Given the description of an element on the screen output the (x, y) to click on. 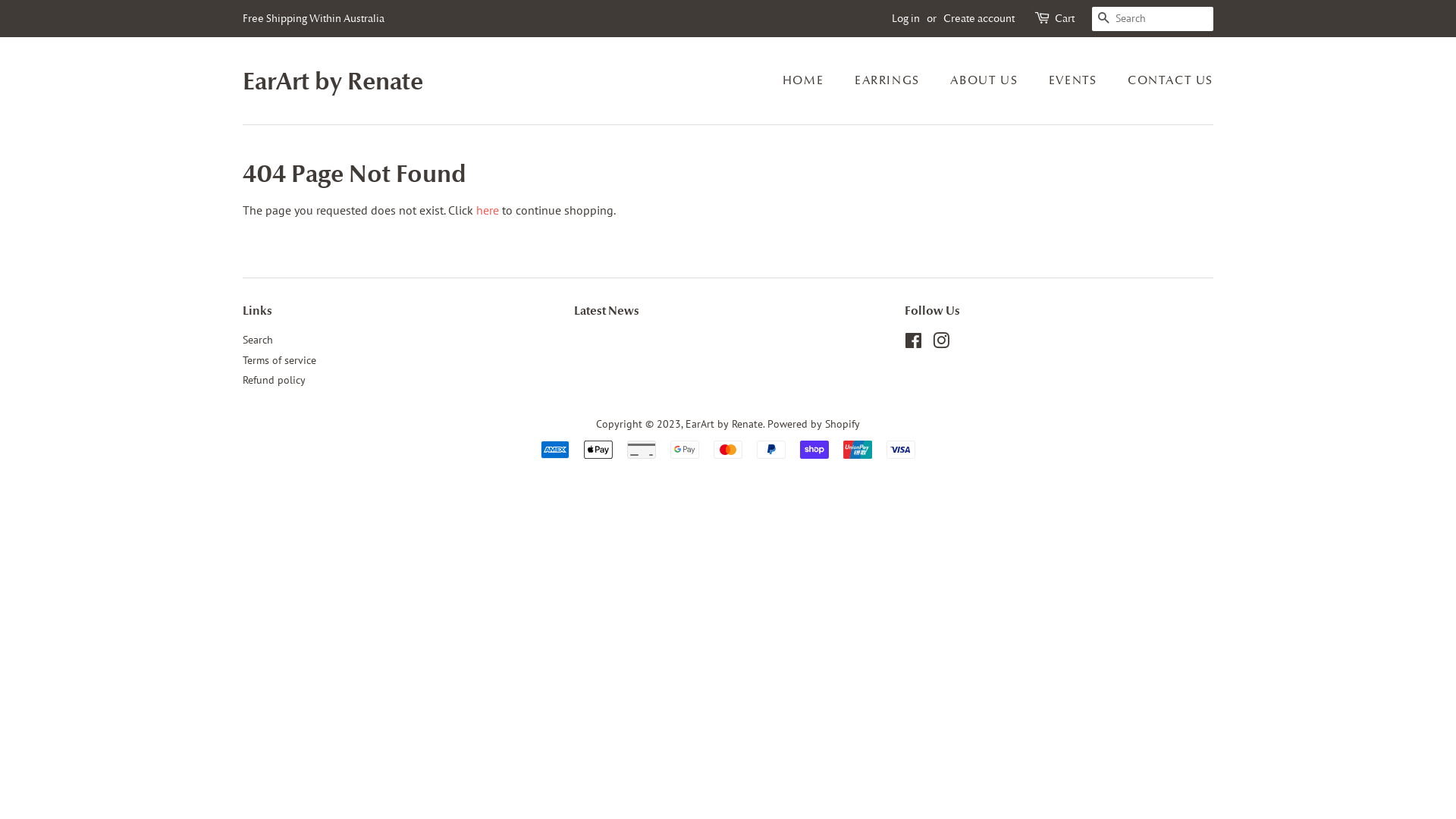
Search Element type: text (257, 339)
EarArt by Renate Element type: text (723, 423)
Create account Element type: text (978, 18)
Terms of service Element type: text (279, 360)
ABOUT US Element type: text (985, 80)
SEARCH Element type: text (1104, 18)
here Element type: text (487, 209)
HOME Element type: text (810, 80)
Facebook Element type: text (913, 343)
EVENTS Element type: text (1074, 80)
Log in Element type: text (905, 18)
Powered by Shopify Element type: text (813, 423)
CONTACT US Element type: text (1164, 80)
Refund policy Element type: text (273, 379)
Cart Element type: text (1064, 18)
EarArt by Renate Element type: text (332, 80)
EARRINGS Element type: text (889, 80)
Instagram Element type: text (940, 343)
Latest News Element type: text (606, 310)
